Given the description of an element on the screen output the (x, y) to click on. 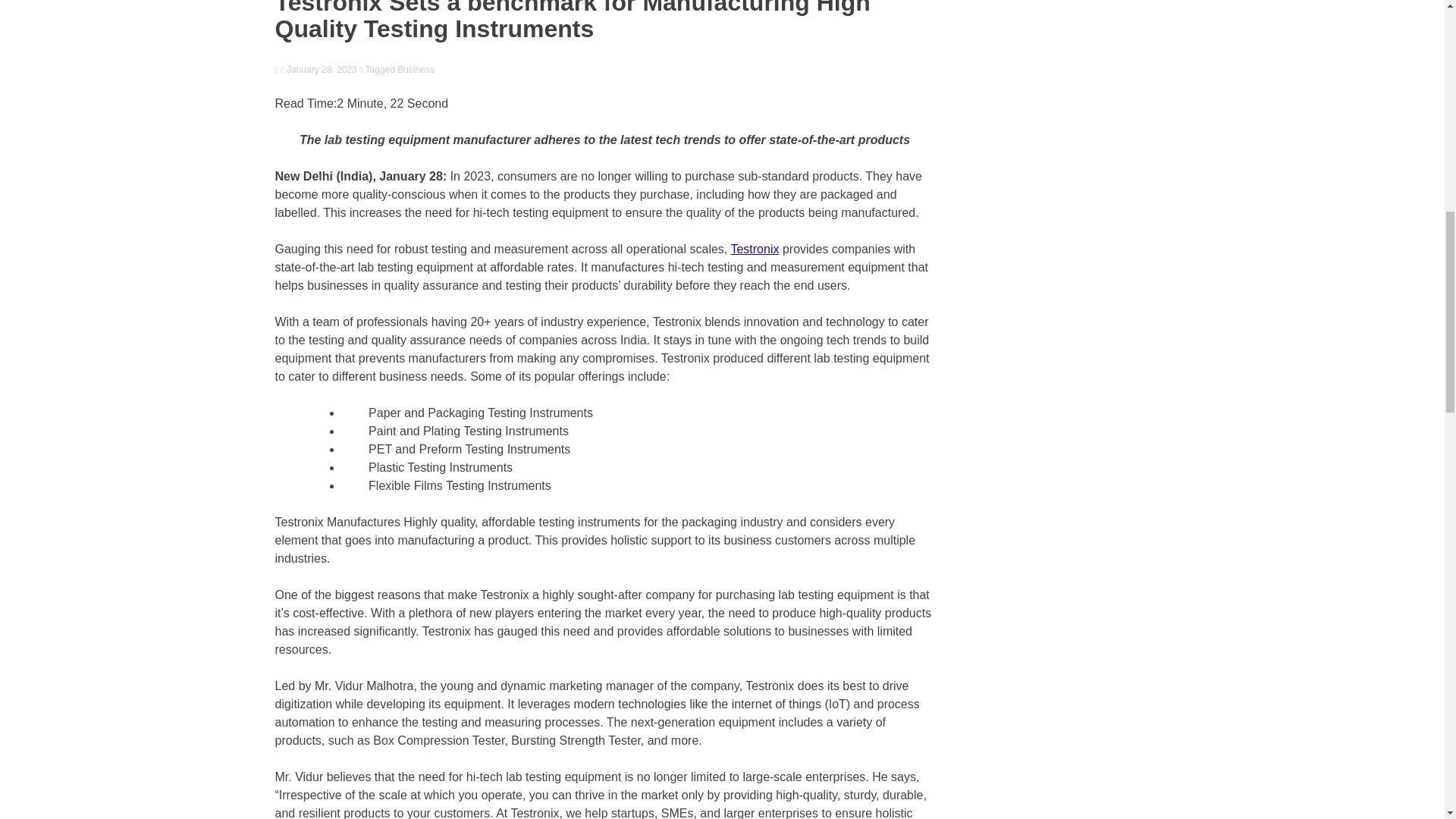
Testronix (754, 248)
January 28, 2023 (318, 69)
Business (415, 69)
